Given the description of an element on the screen output the (x, y) to click on. 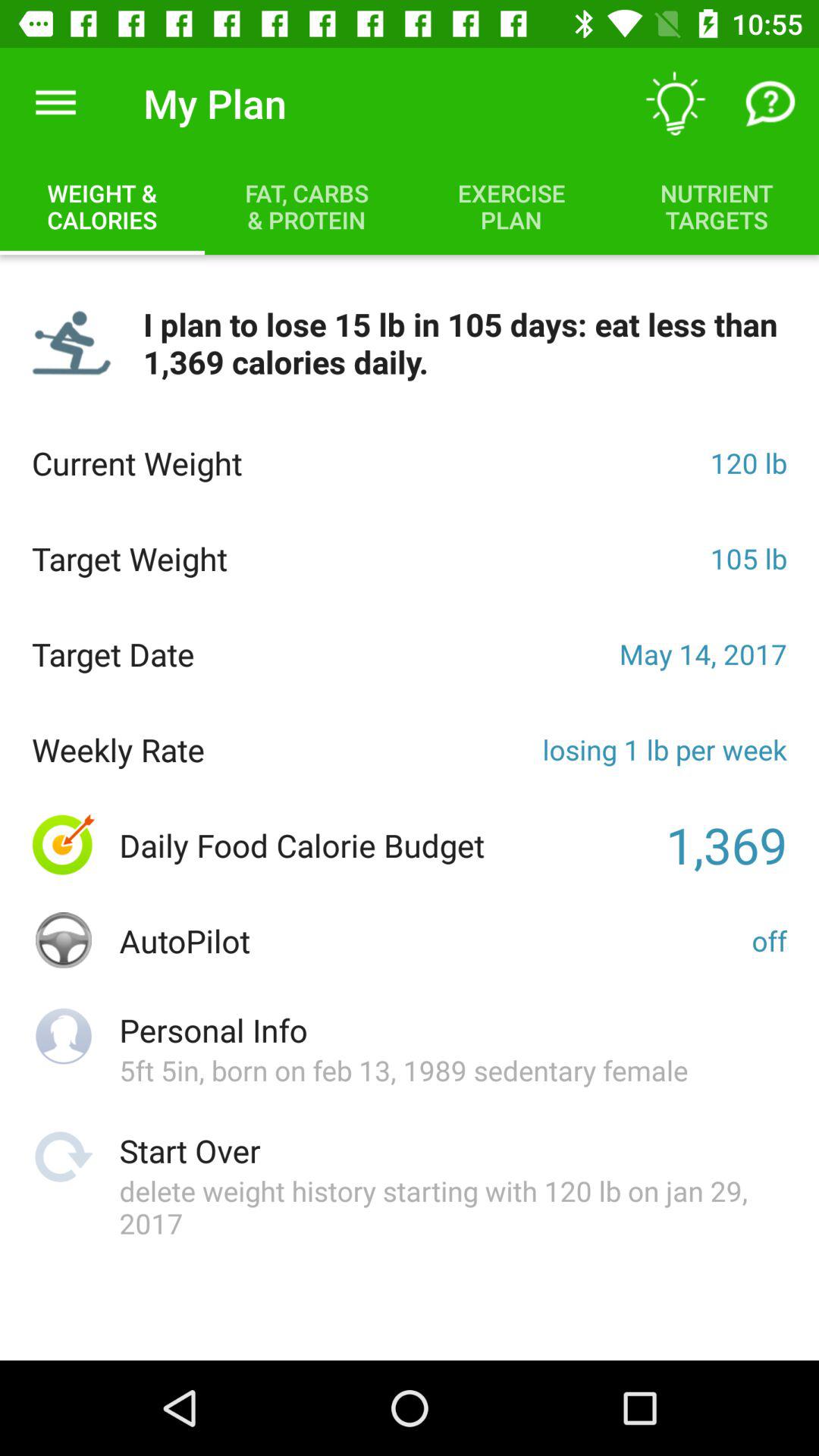
press the icon to the right of the my plan icon (675, 103)
